Given the description of an element on the screen output the (x, y) to click on. 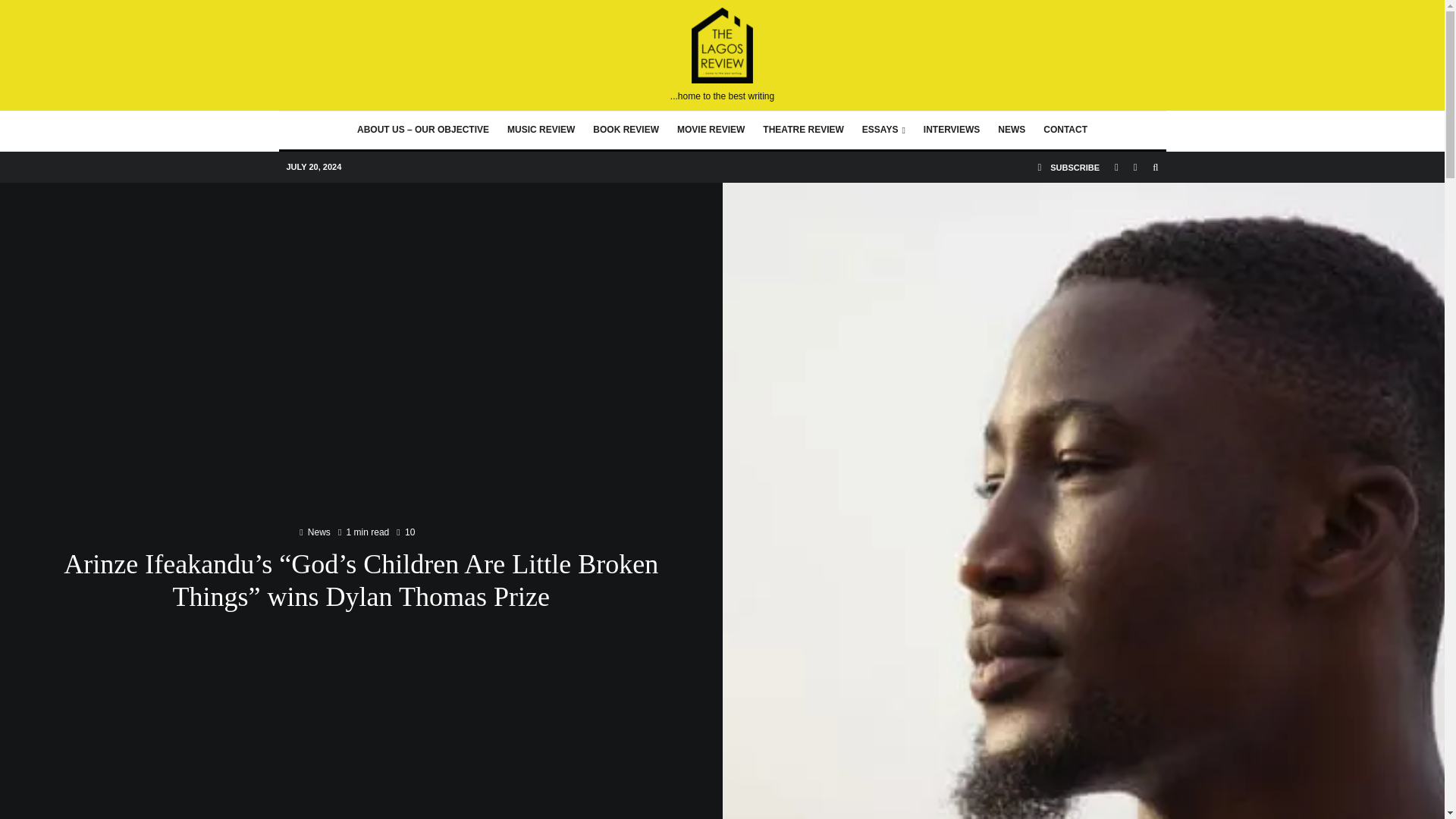
MOVIE REVIEW (711, 130)
...home to the best writing (721, 55)
MUSIC REVIEW (540, 130)
THEATRE REVIEW (802, 130)
BOOK REVIEW (625, 130)
